Given the description of an element on the screen output the (x, y) to click on. 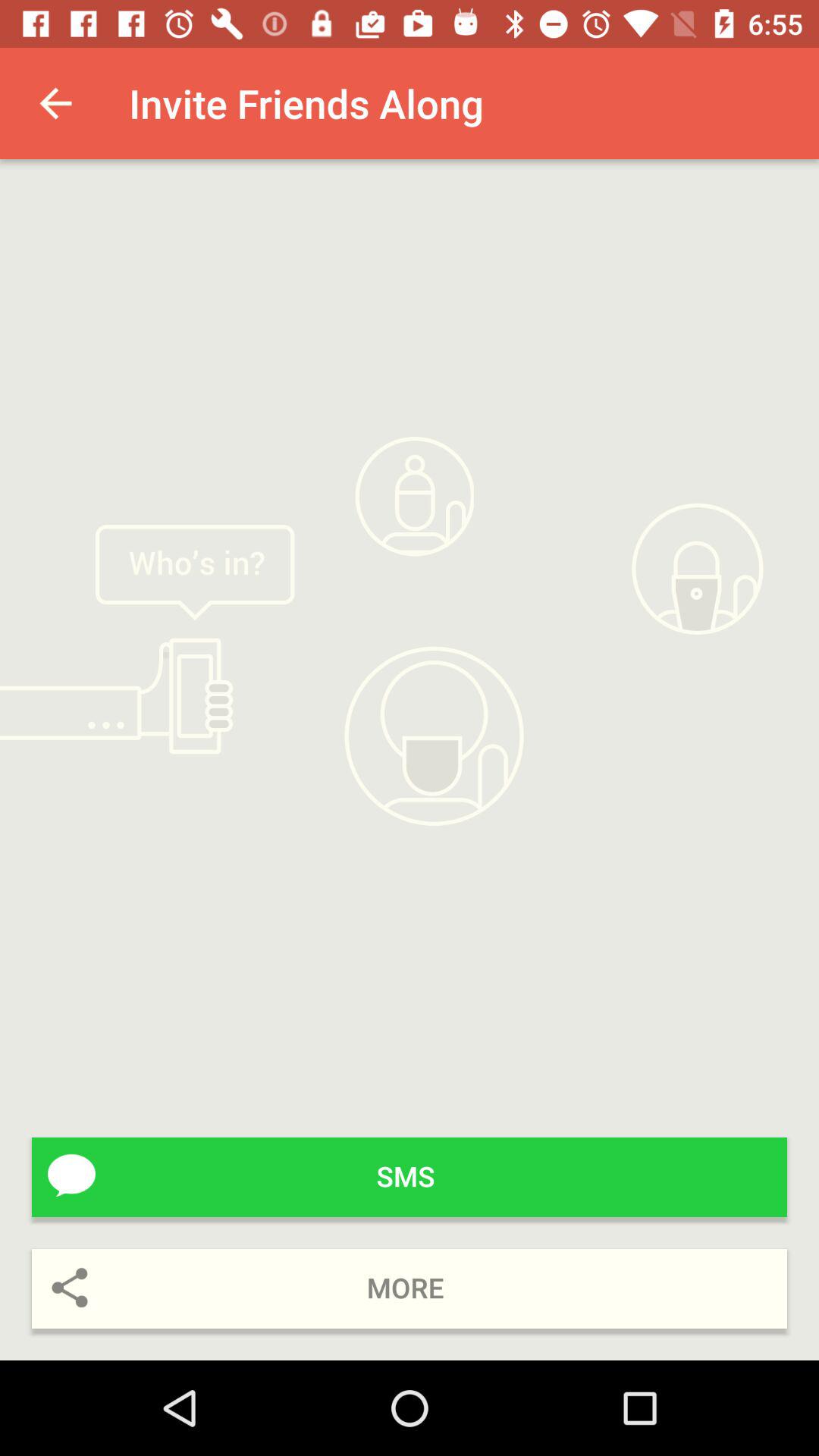
click sms (409, 1177)
